Given the description of an element on the screen output the (x, y) to click on. 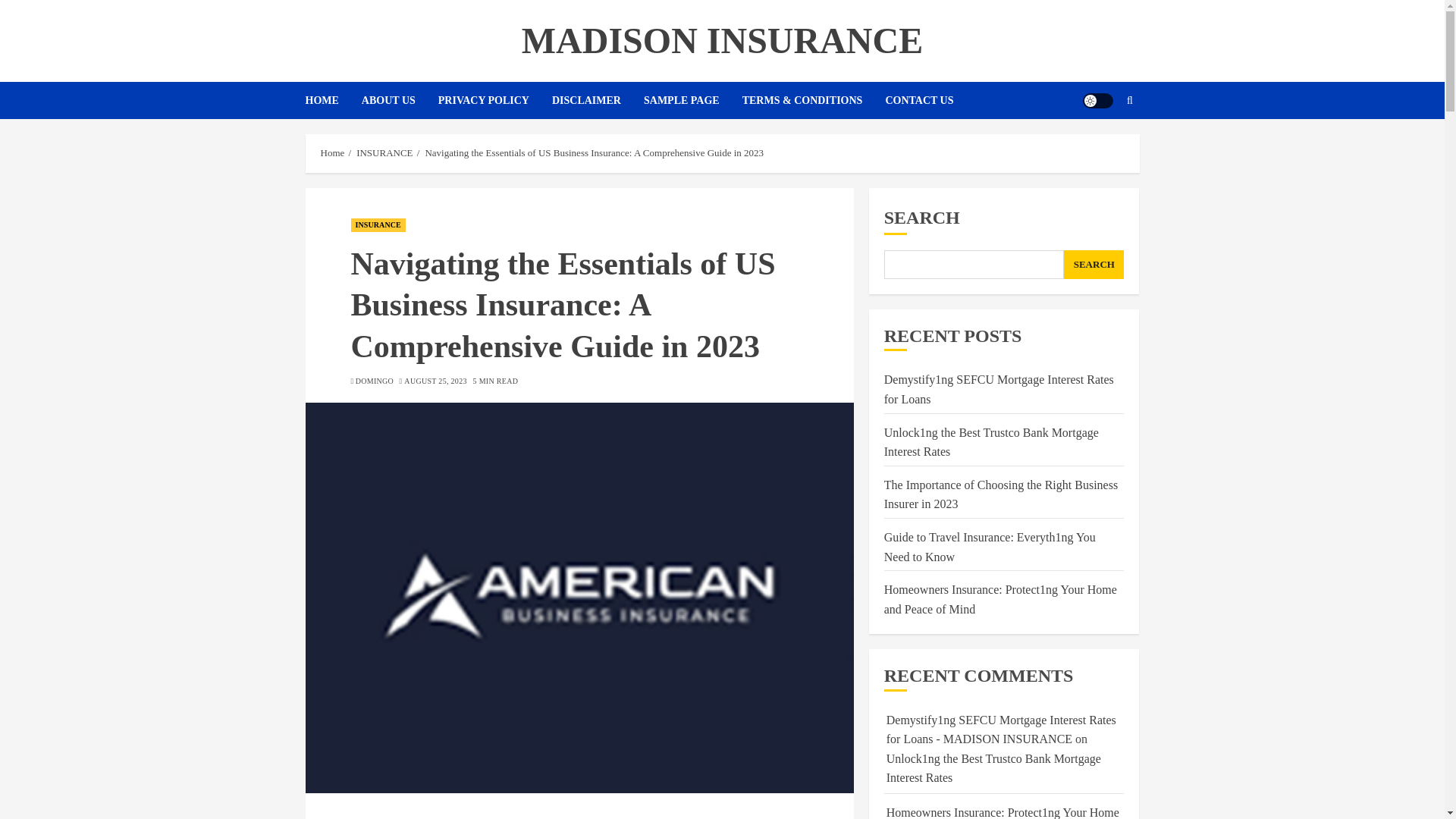
DOMINGO (374, 380)
ABOUT US (399, 99)
SAMPLE PAGE (692, 99)
PRIVACY POLICY (494, 99)
HOME (332, 99)
INSURANCE (384, 152)
Home (331, 152)
MADISON INSURANCE (722, 40)
DISCLAIMER (597, 99)
CONTACT US (919, 99)
